Given the description of an element on the screen output the (x, y) to click on. 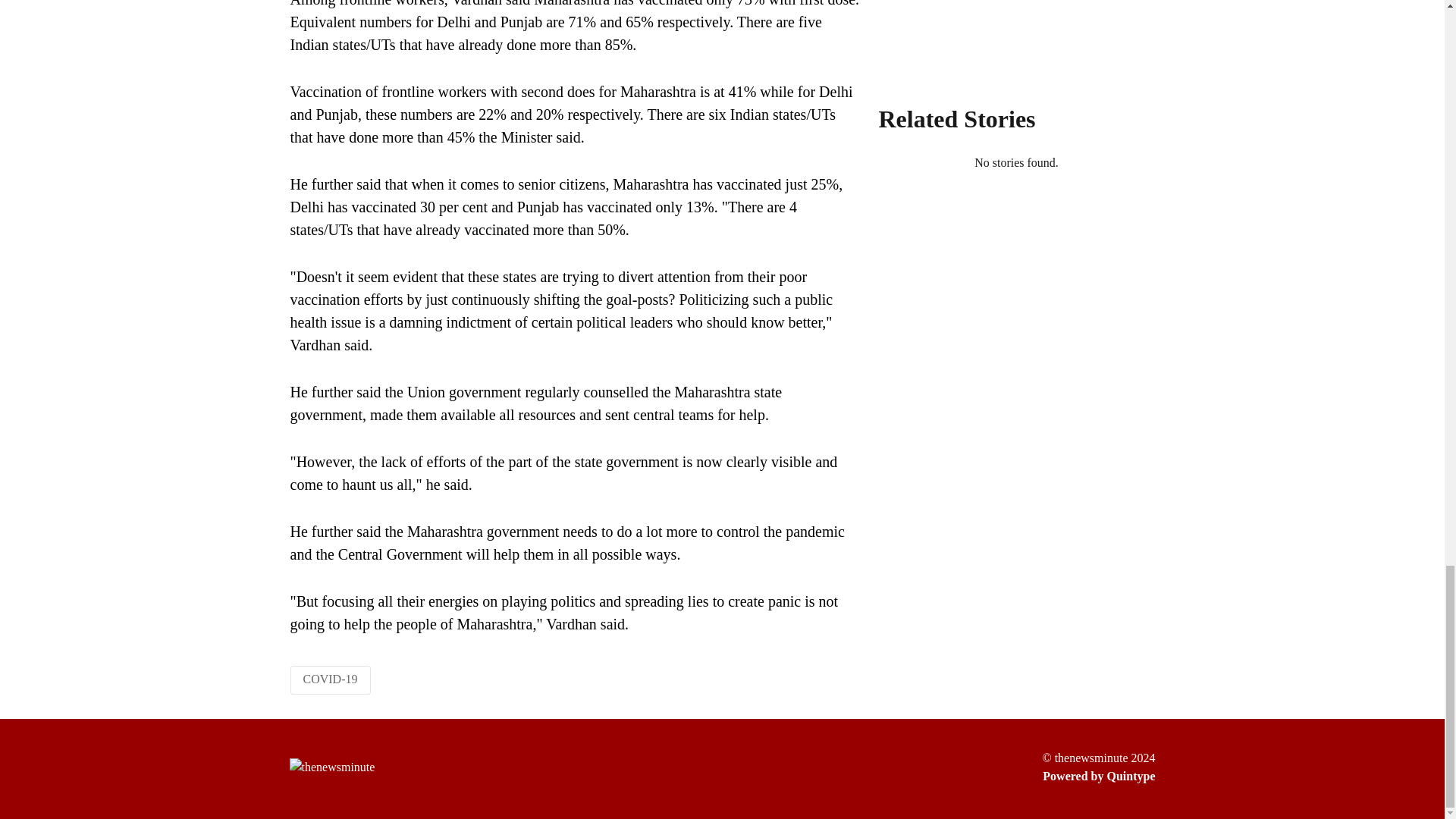
COVID-19 (330, 678)
Powered by Quintype (1098, 776)
